Given the description of an element on the screen output the (x, y) to click on. 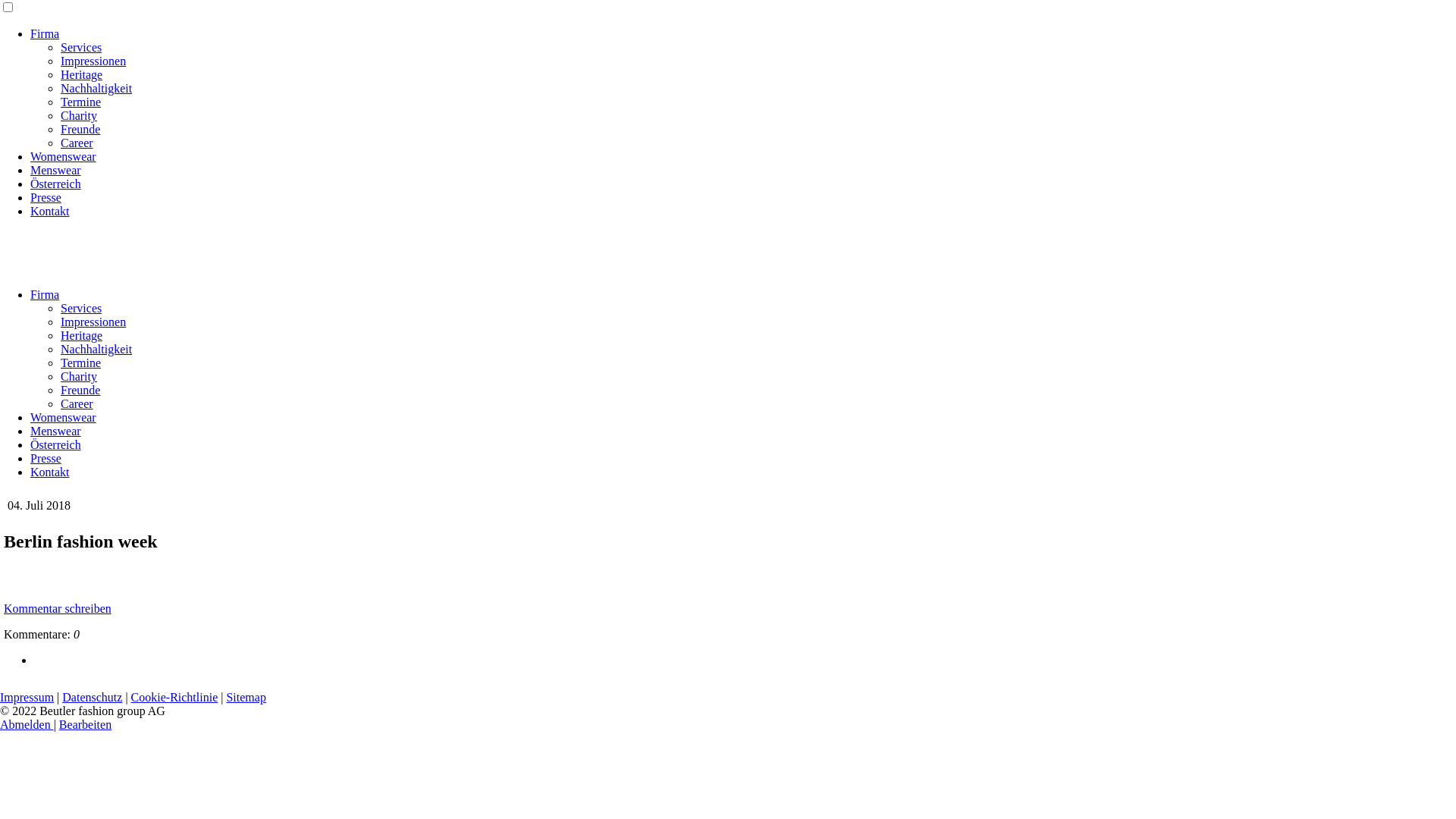
Firma Element type: text (44, 294)
Presse Element type: text (45, 457)
Career Element type: text (76, 142)
Services Element type: text (80, 307)
Kontakt Element type: text (49, 210)
Services Element type: text (80, 46)
Menswear Element type: text (55, 169)
Menswear Element type: text (55, 430)
Termine Element type: text (80, 101)
Bearbeiten Element type: text (85, 724)
Kommentar schreiben Element type: text (57, 608)
Womenswear Element type: text (63, 417)
Kontakt Element type: text (49, 471)
Datenschutz Element type: text (92, 696)
Abmelden Element type: text (26, 724)
Sitemap Element type: text (245, 696)
Career Element type: text (76, 403)
Heritage Element type: text (81, 335)
Freunde Element type: text (80, 389)
Nachhaltigkeit Element type: text (95, 348)
Firma Element type: text (44, 33)
Charity Element type: text (78, 115)
Cookie-Richtlinie Element type: text (174, 696)
Charity Element type: text (78, 376)
Impressionen Element type: text (92, 321)
Freunde Element type: text (80, 128)
Nachhaltigkeit Element type: text (95, 87)
Impressionen Element type: text (92, 60)
Impressum Element type: text (26, 696)
Heritage Element type: text (81, 74)
Termine Element type: text (80, 362)
Womenswear Element type: text (63, 156)
Presse Element type: text (45, 197)
